Given the description of an element on the screen output the (x, y) to click on. 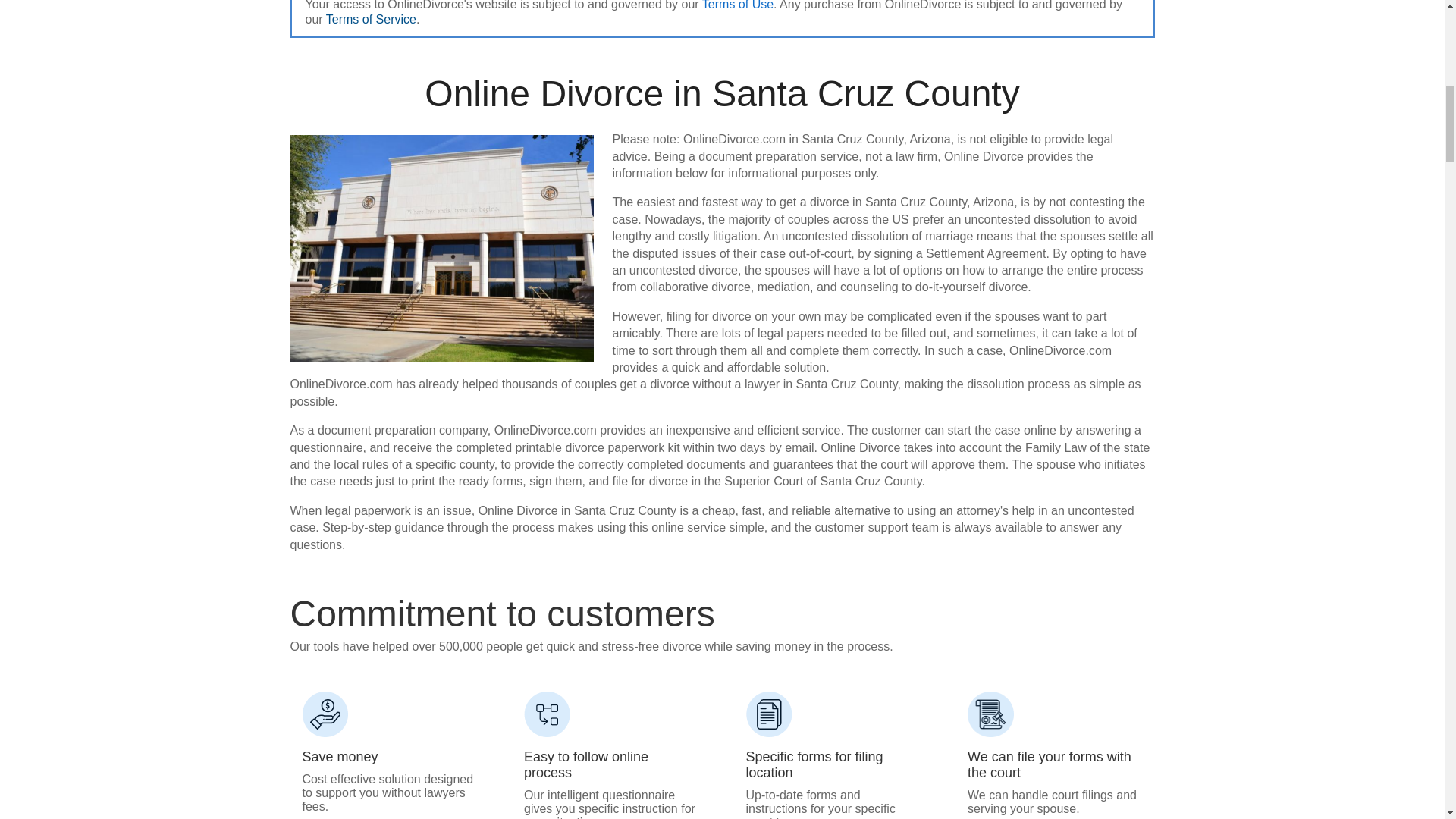
Terms of Service (371, 19)
Terms of Use (737, 5)
